Given the description of an element on the screen output the (x, y) to click on. 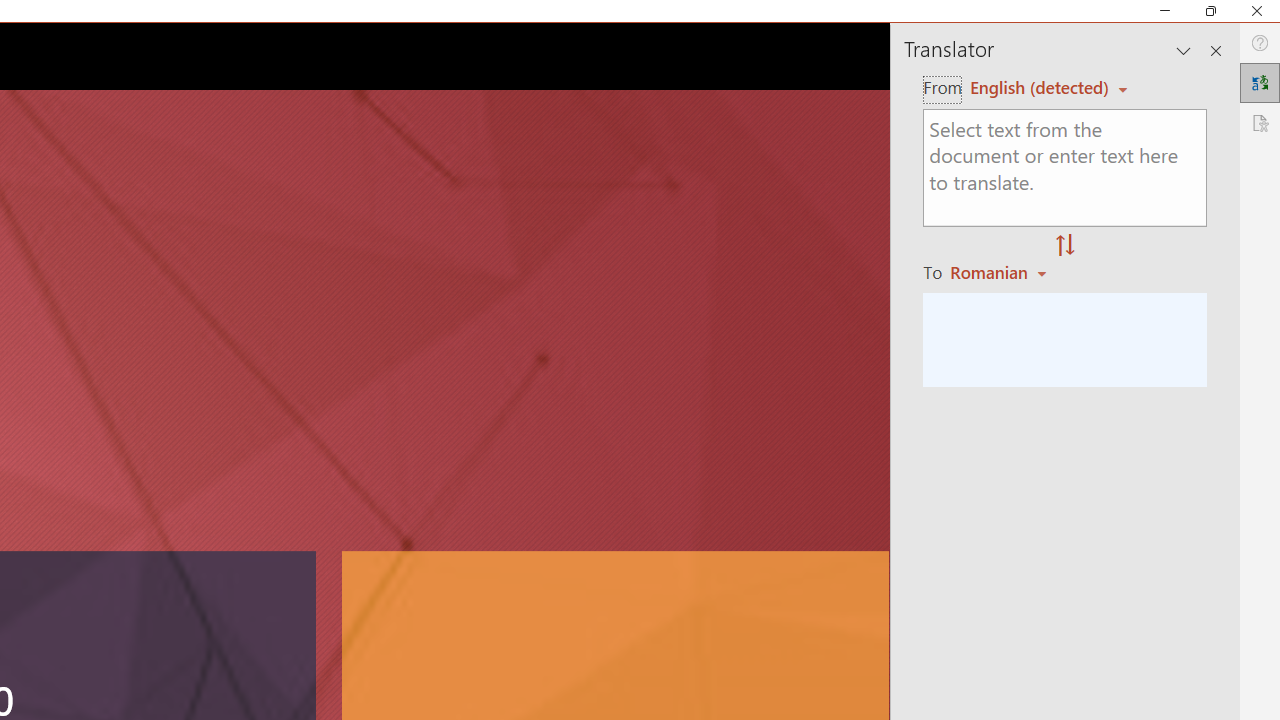
Help (1260, 43)
Translator (1260, 82)
Romanian (1001, 272)
Czech (detected) (1039, 87)
Accessibility (1260, 122)
Task Pane Options (1183, 50)
Close pane (1215, 50)
Swap "from" and "to" languages. (1065, 245)
